Given the description of an element on the screen output the (x, y) to click on. 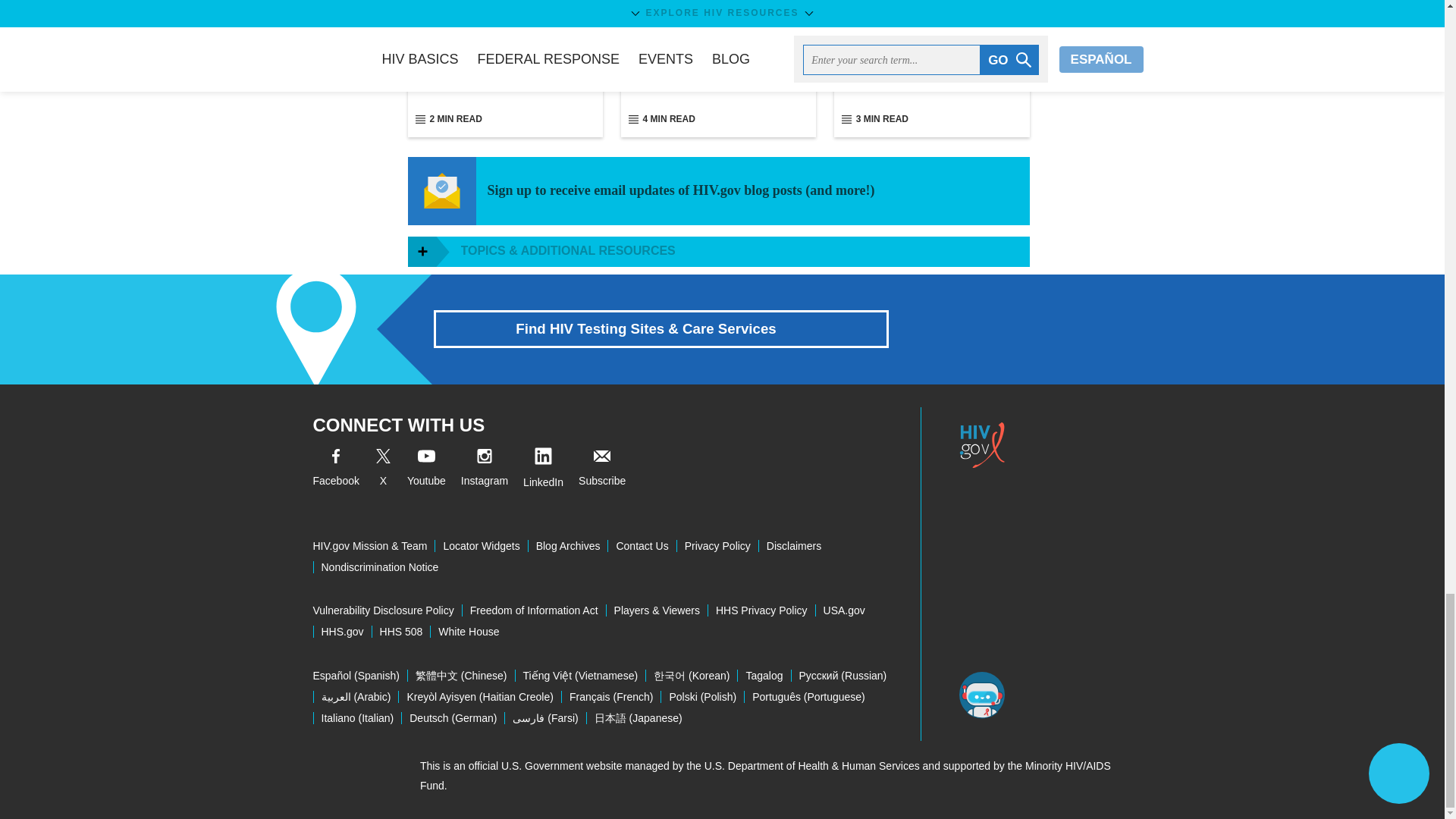
Visit HIV.gov on Facebook (335, 470)
Visit to subscribe to HIV.gov email updates (602, 470)
Visit HIV.gov on Instagram (484, 470)
